Given the description of an element on the screen output the (x, y) to click on. 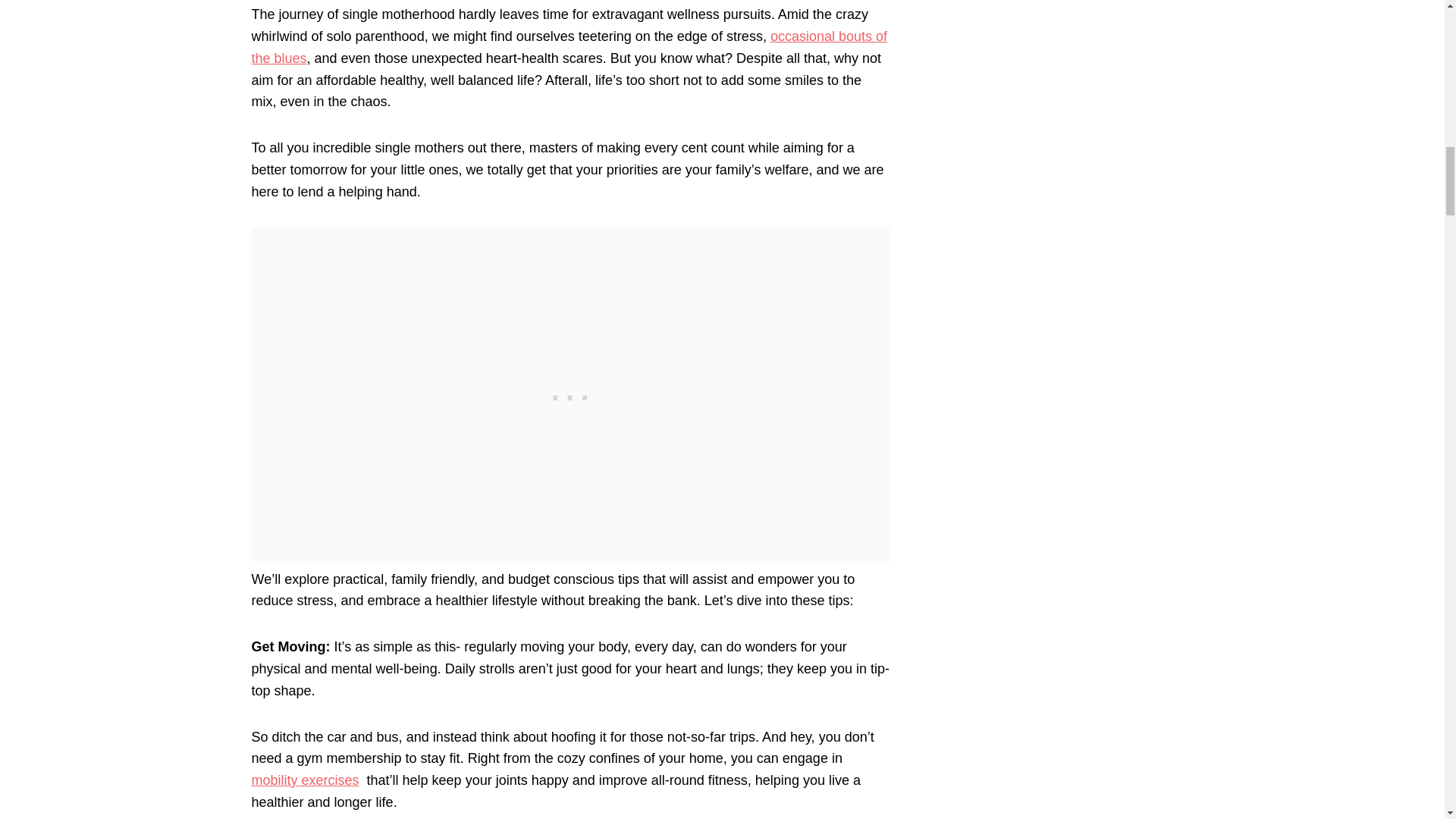
occasional bouts of the blues (569, 47)
mobility exercises (305, 780)
